Given the description of an element on the screen output the (x, y) to click on. 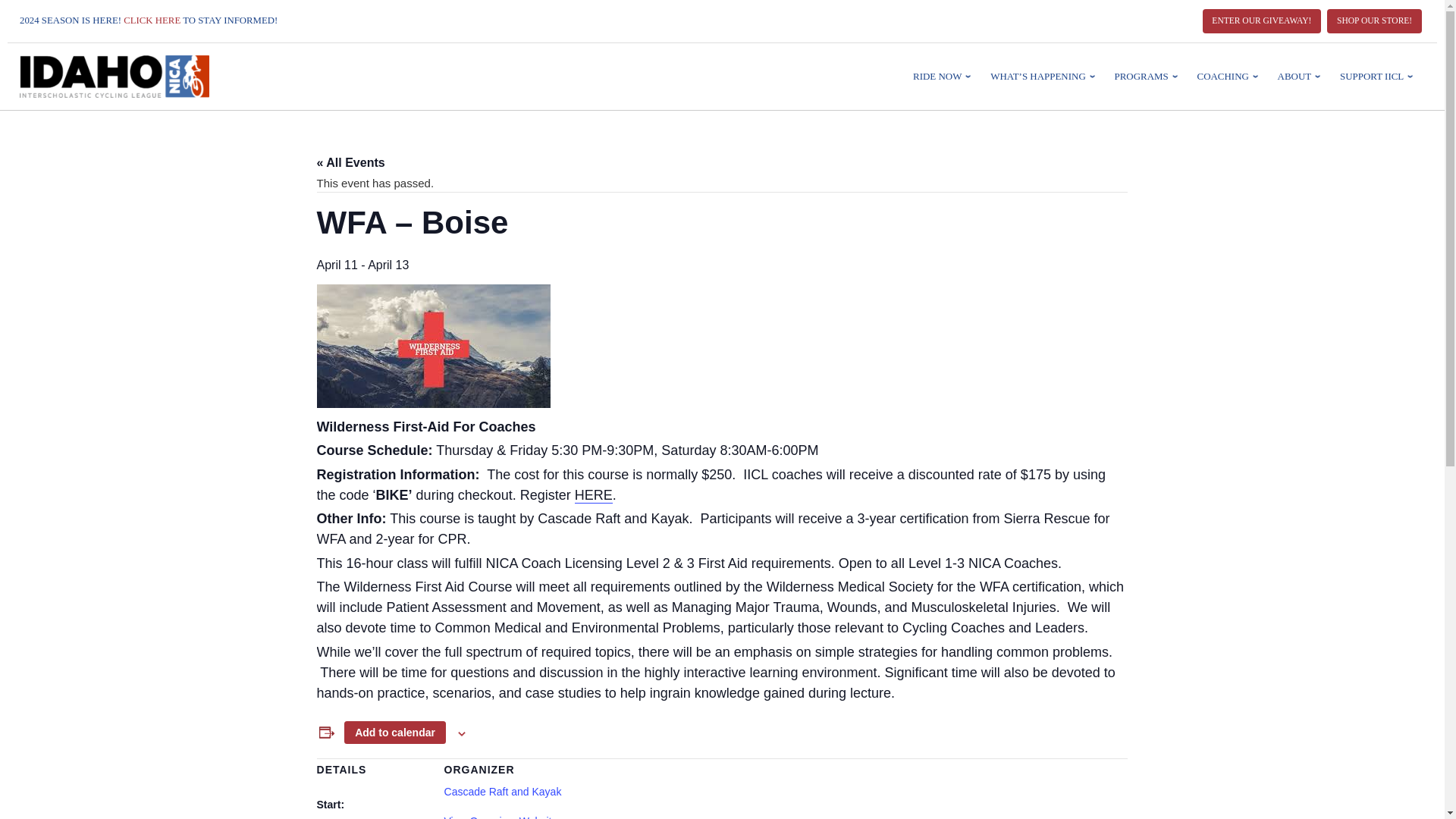
ENTER OUR GIVEAWAY! (1262, 21)
SUPPORT IICL (1378, 76)
Cascade Raft and Kayak (503, 791)
PROGRAMS (1147, 76)
CLICK HERE (151, 20)
SHOP OUR STORE! (1374, 21)
ABOUT (1300, 76)
ID-lockup-full (114, 76)
COACHING (1229, 76)
